Given the description of an element on the screen output the (x, y) to click on. 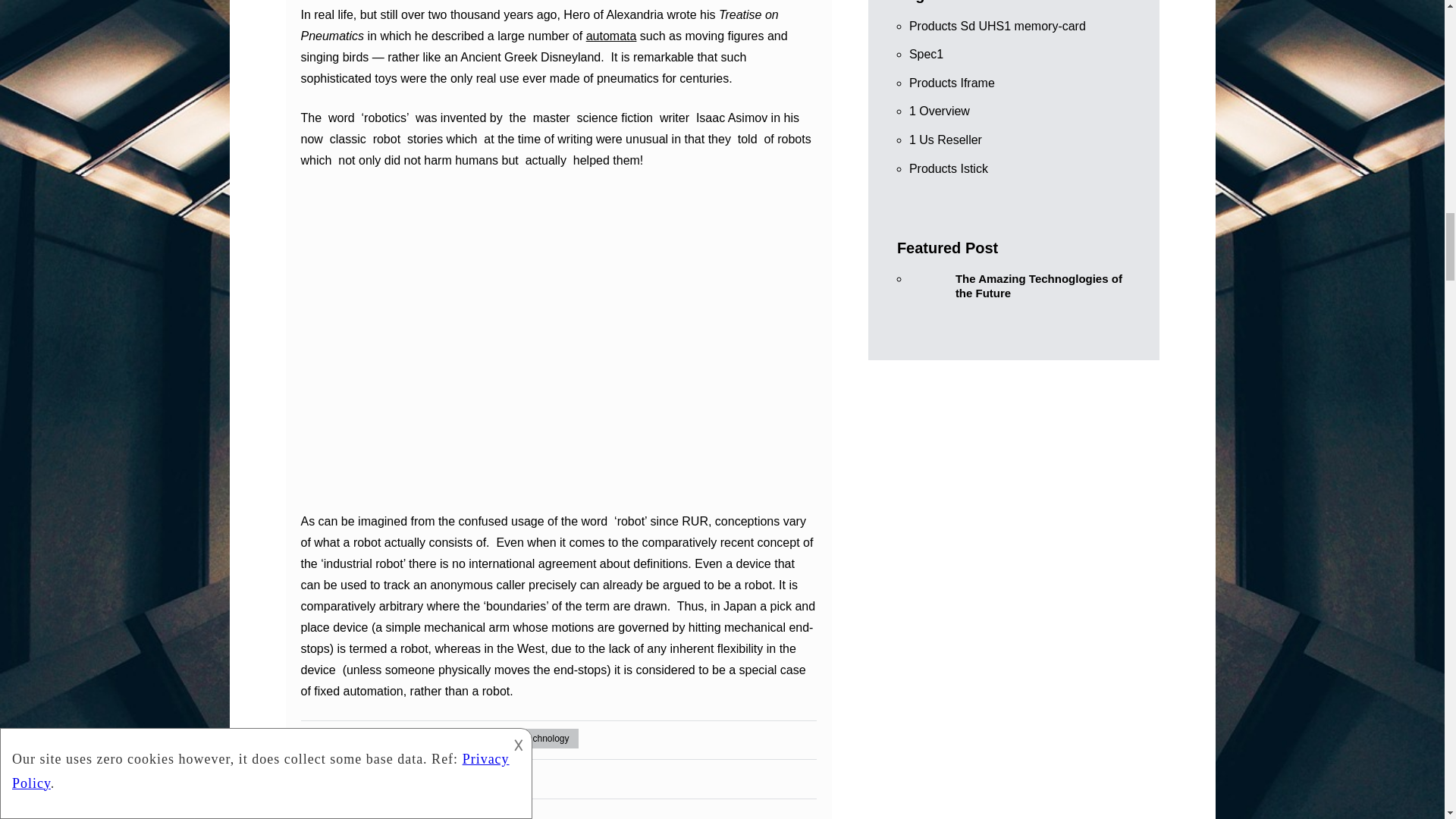
Science (480, 738)
Technology (545, 738)
Robot (364, 777)
Future Technology (401, 738)
Robotics (421, 777)
